Given the description of an element on the screen output the (x, y) to click on. 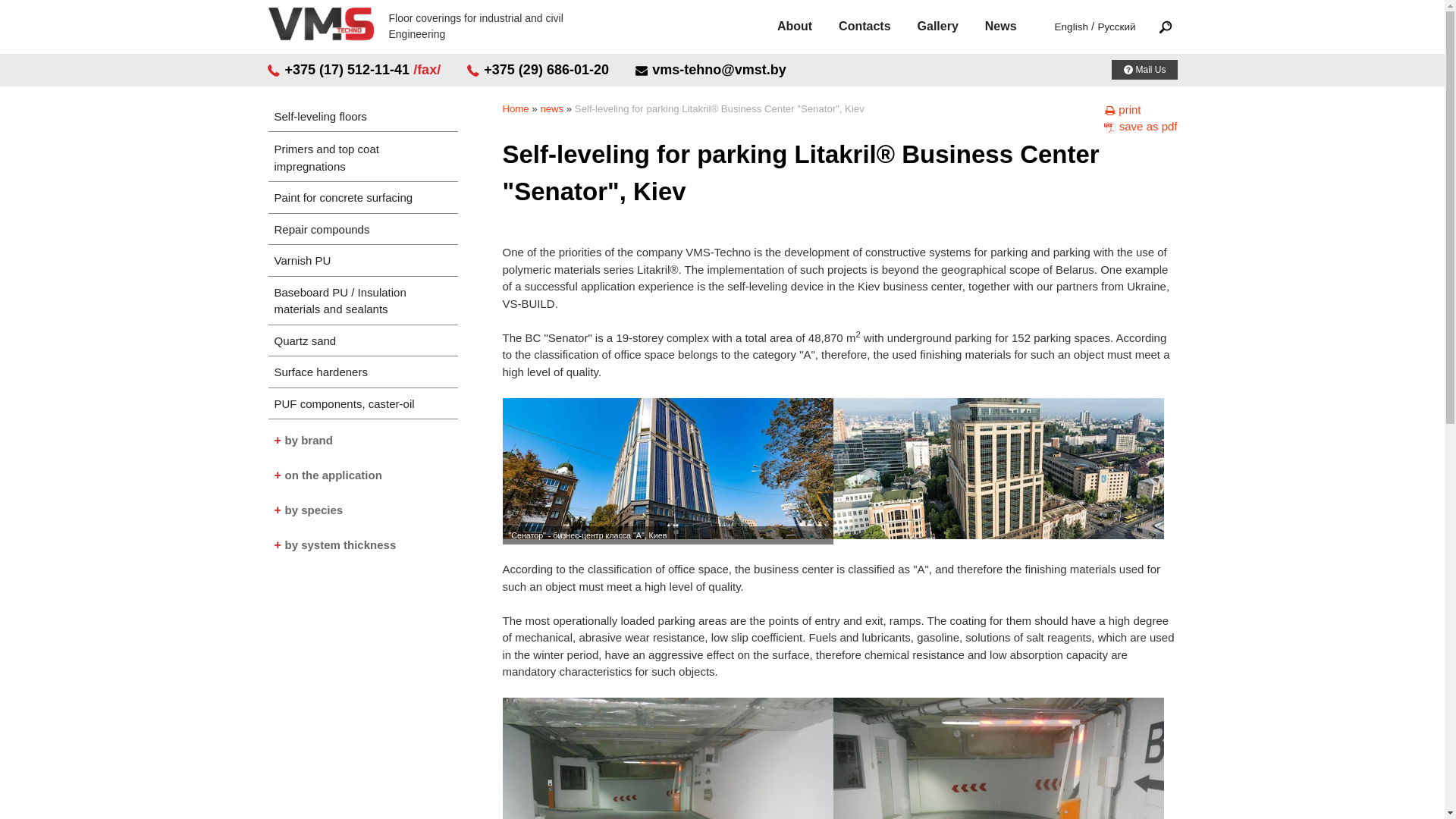
Paint for concrete surfacing (362, 198)
Surface hardeners (362, 372)
Floors for garages, parkings, service stations (362, 508)
Bostik (362, 466)
English (1070, 26)
Repair compounds (362, 230)
Contacts (877, 25)
save as pdf (1139, 125)
For the demanding conditions (362, 536)
Gallery (951, 25)
